Given the description of an element on the screen output the (x, y) to click on. 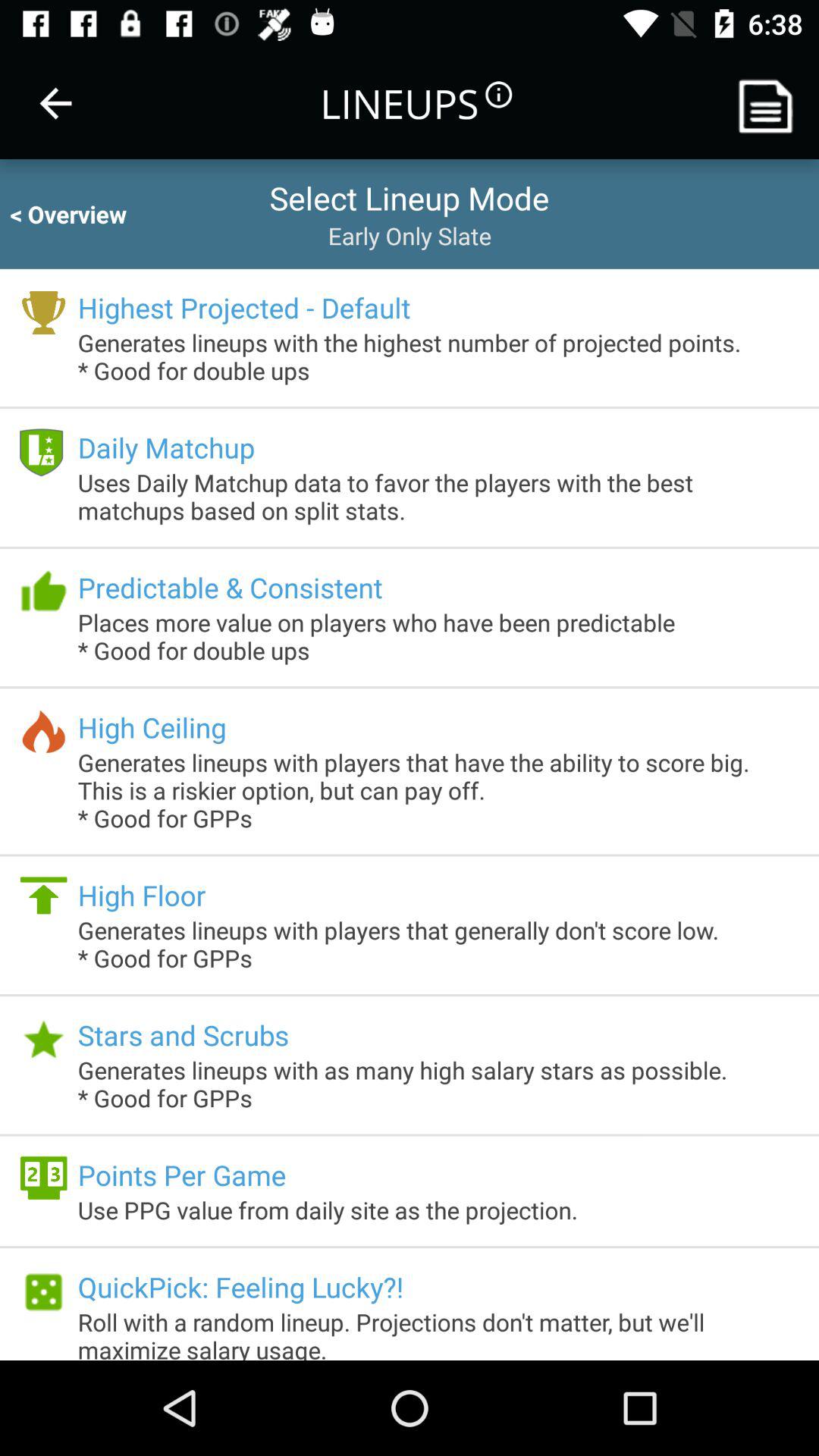
launch item to the left of the select lineup mode icon (81, 214)
